Given the description of an element on the screen output the (x, y) to click on. 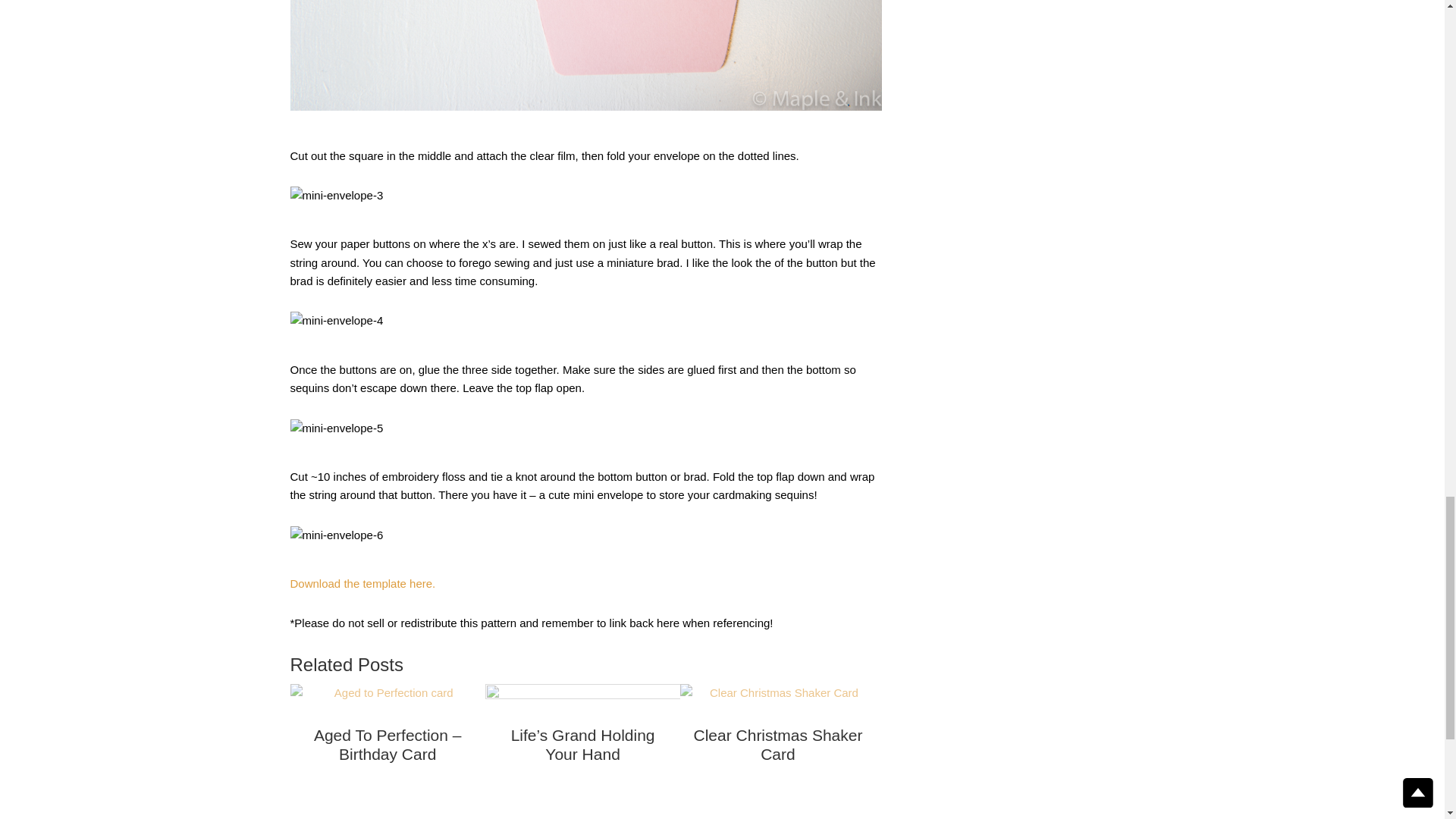
Permanent Link toClear Christmas Shaker Card (777, 748)
Clear Christmas Shaker Card (777, 748)
Download the template here. (362, 583)
